Given the description of an element on the screen output the (x, y) to click on. 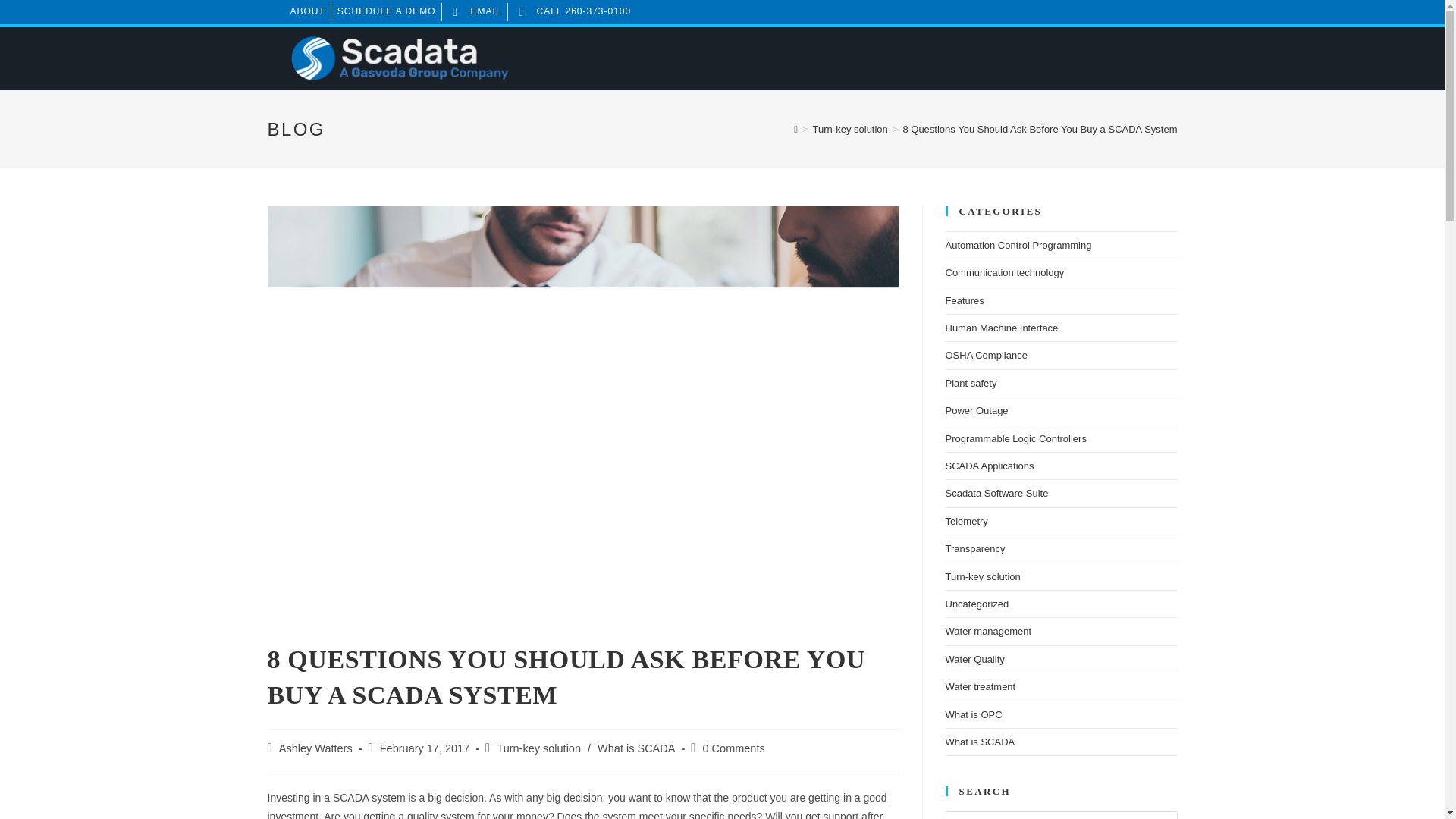
8 Questions You Should Ask Before You Buy a SCADA System (1039, 129)
ABOUT (306, 12)
SCHEDULE A DEMO (386, 12)
Turn-key solution (850, 129)
0 Comments (732, 748)
CALL 260-373-0100 (572, 12)
Posts by Ashley Watters (315, 748)
Turn-key solution (538, 748)
EMAIL (475, 12)
Ashley Watters (315, 748)
